Given the description of an element on the screen output the (x, y) to click on. 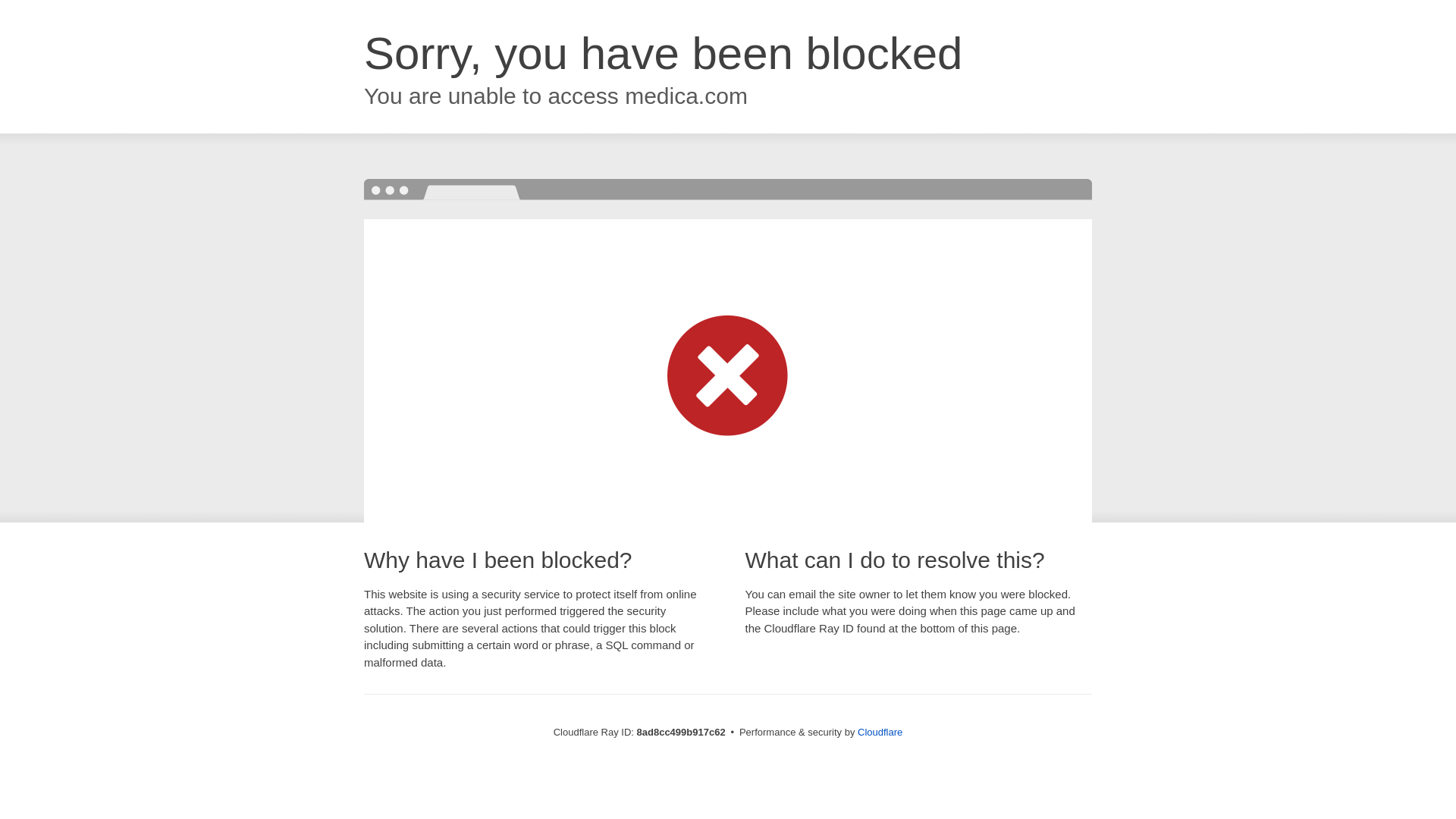
Cloudflare (879, 731)
